Given the description of an element on the screen output the (x, y) to click on. 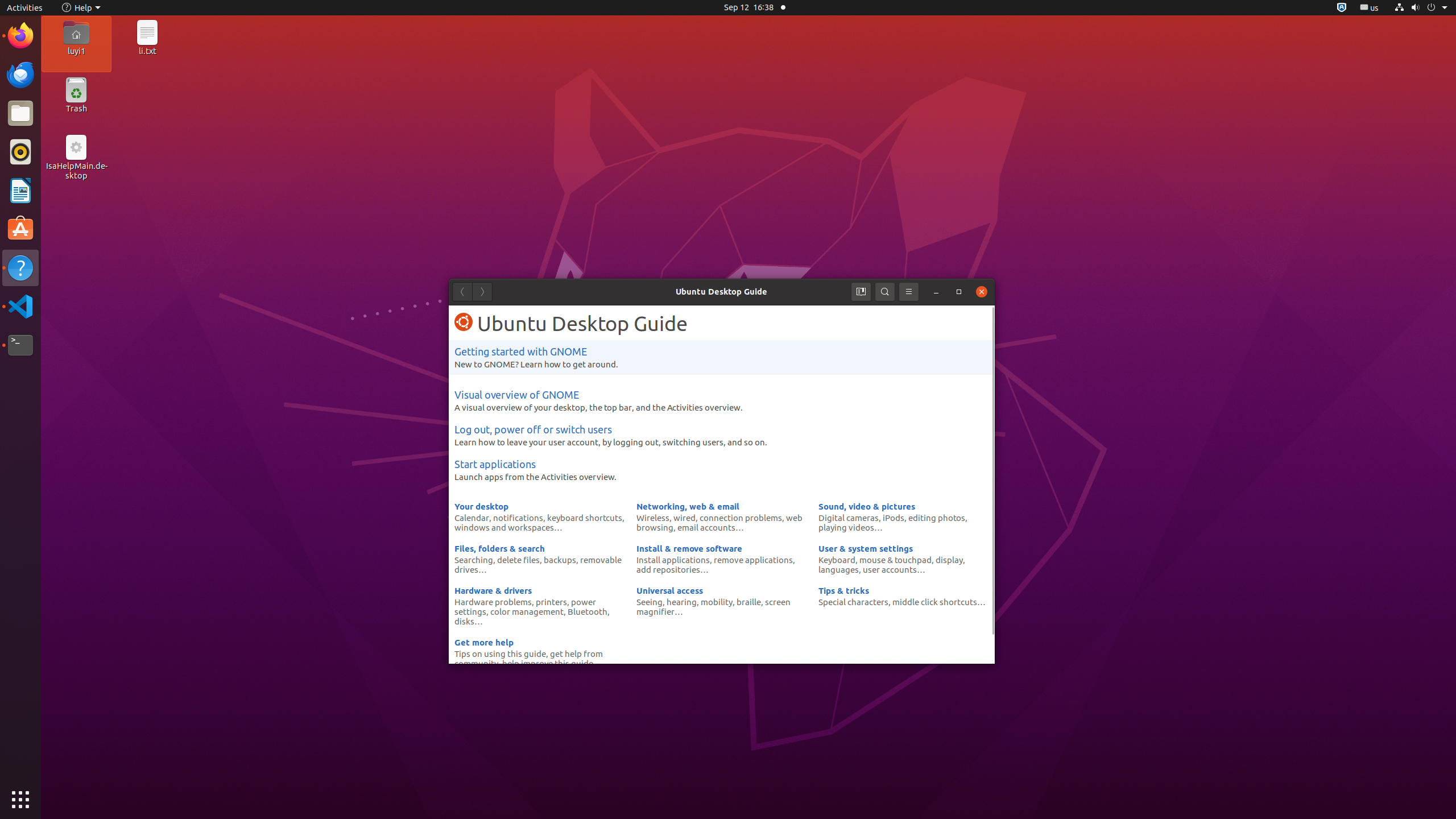
Hardware problems Element type: link (492, 601)
delete files Element type: link (518, 559)
disks Element type: link (464, 620)
power settings Element type: link (525, 606)
